Given the description of an element on the screen output the (x, y) to click on. 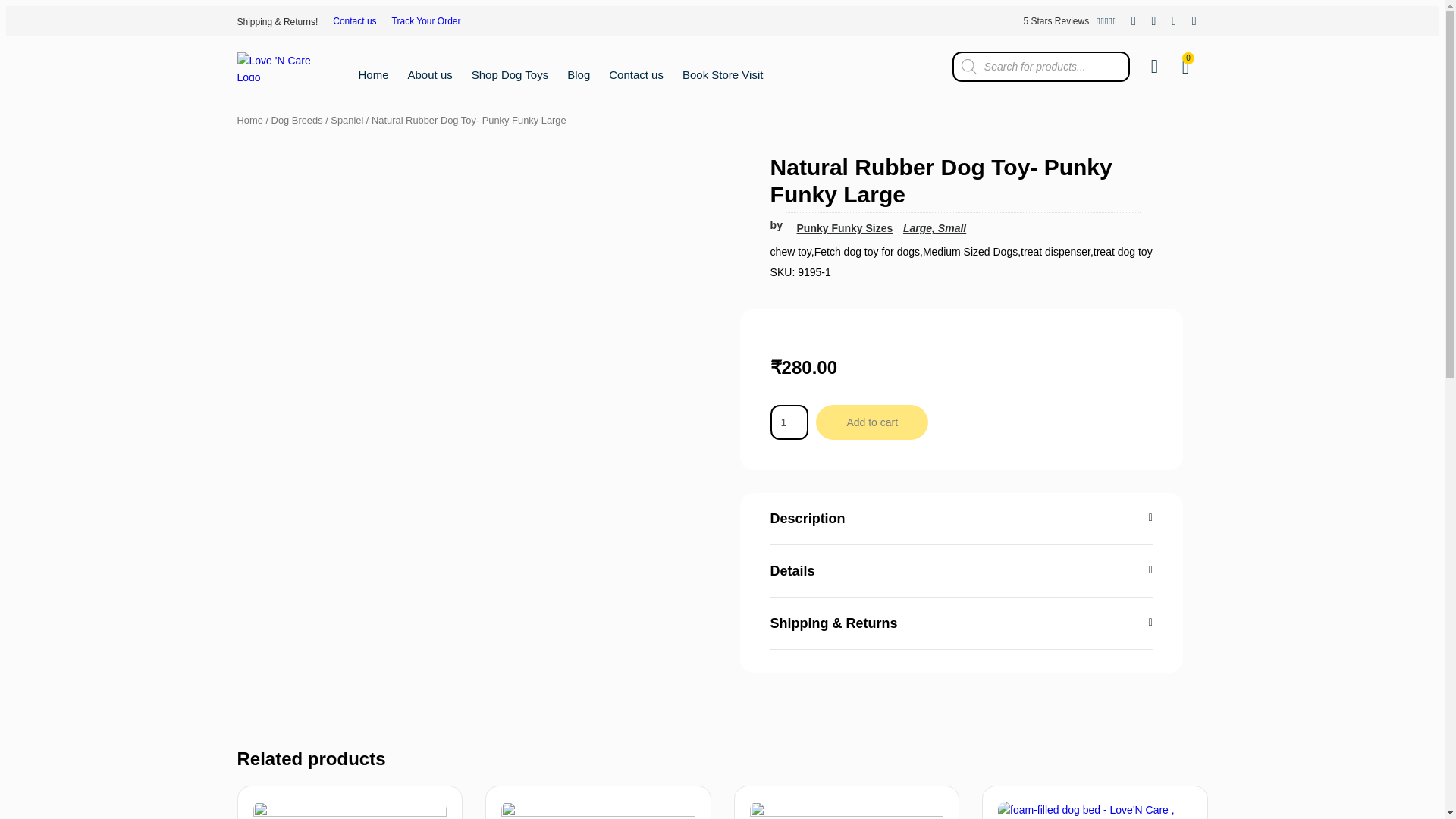
Book Store Visit (722, 74)
Contact us (354, 21)
0 (1185, 66)
Track Your Order (388, 21)
Home (426, 21)
Contact us (373, 74)
1 (635, 74)
About us (789, 421)
Blog (429, 74)
Shop Dog Toys (578, 74)
